Given the description of an element on the screen output the (x, y) to click on. 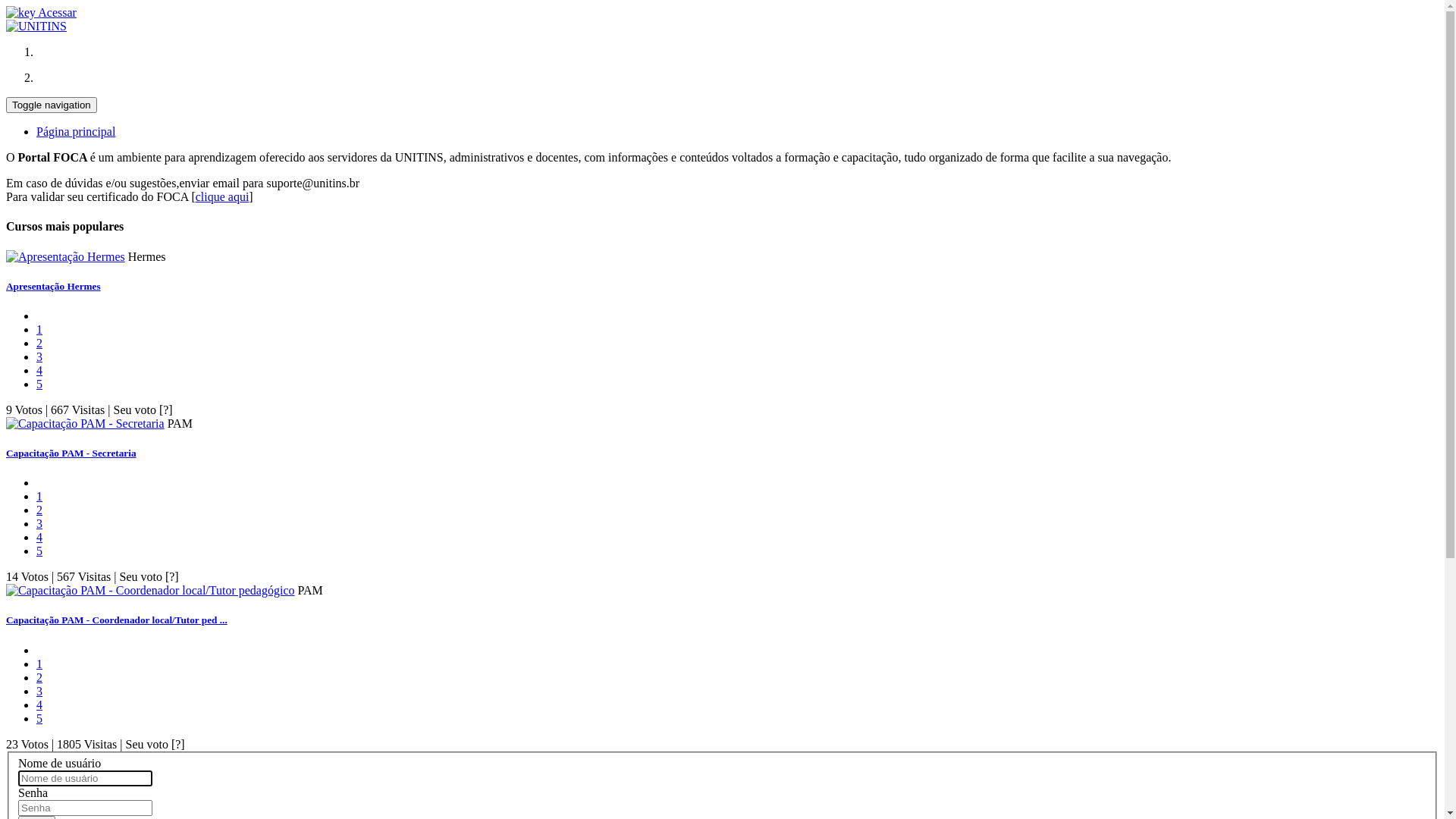
5 Element type: text (39, 383)
1 Element type: text (39, 495)
Toggle navigation Element type: text (51, 104)
4 Element type: text (39, 536)
clique aqui Element type: text (222, 196)
1 Element type: text (39, 663)
2 Element type: text (39, 509)
Acessar Element type: text (41, 12)
2 Element type: text (39, 342)
3 Element type: text (39, 356)
1 Element type: text (39, 329)
5 Element type: text (39, 550)
5 Element type: text (39, 718)
4 Element type: text (39, 704)
2 Element type: text (39, 677)
3 Element type: text (39, 523)
4 Element type: text (39, 370)
FOCA Element type: hover (36, 26)
3 Element type: text (39, 690)
